Given the description of an element on the screen output the (x, y) to click on. 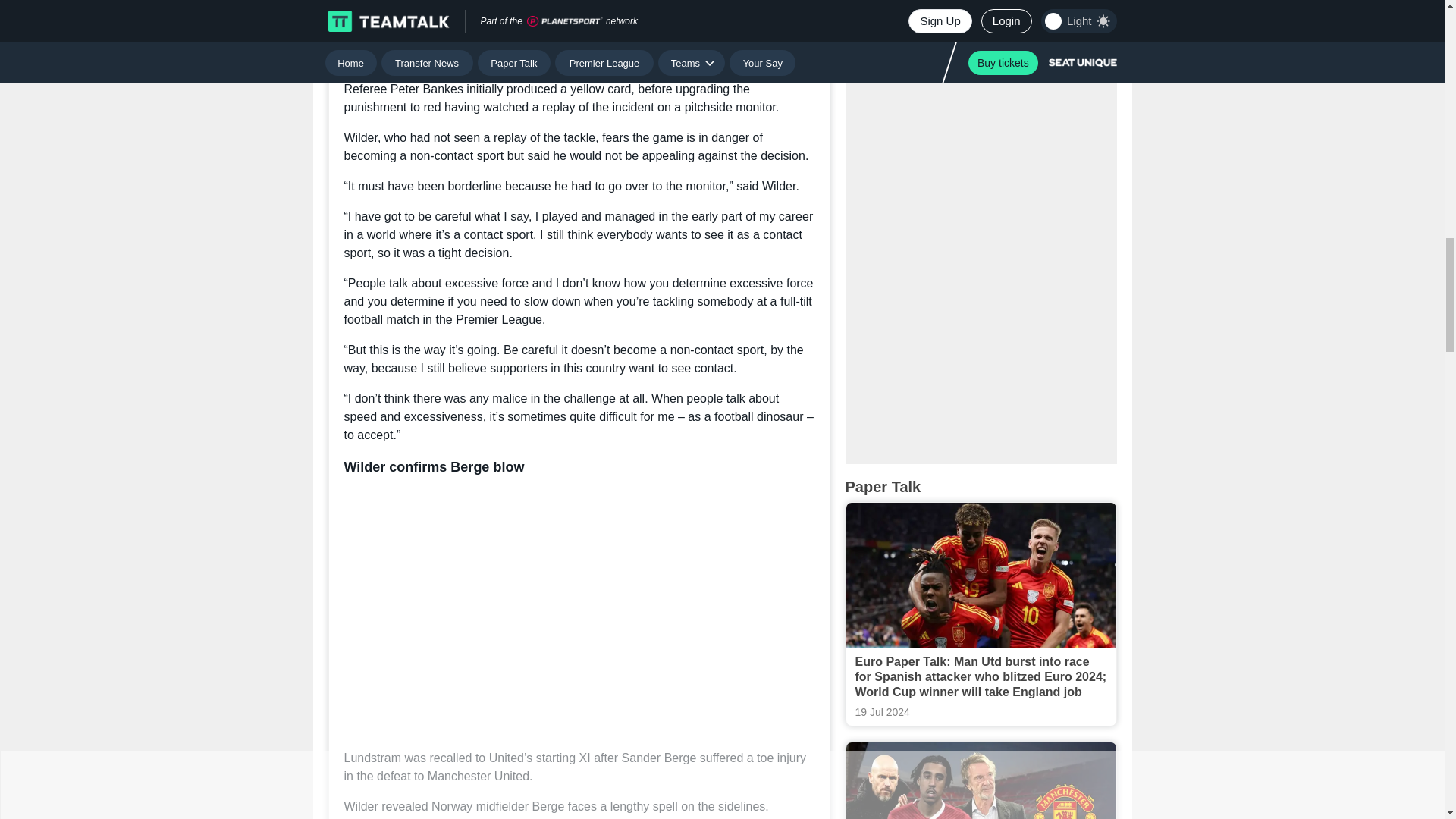
3rd party ad content (980, 86)
